Given the description of an element on the screen output the (x, y) to click on. 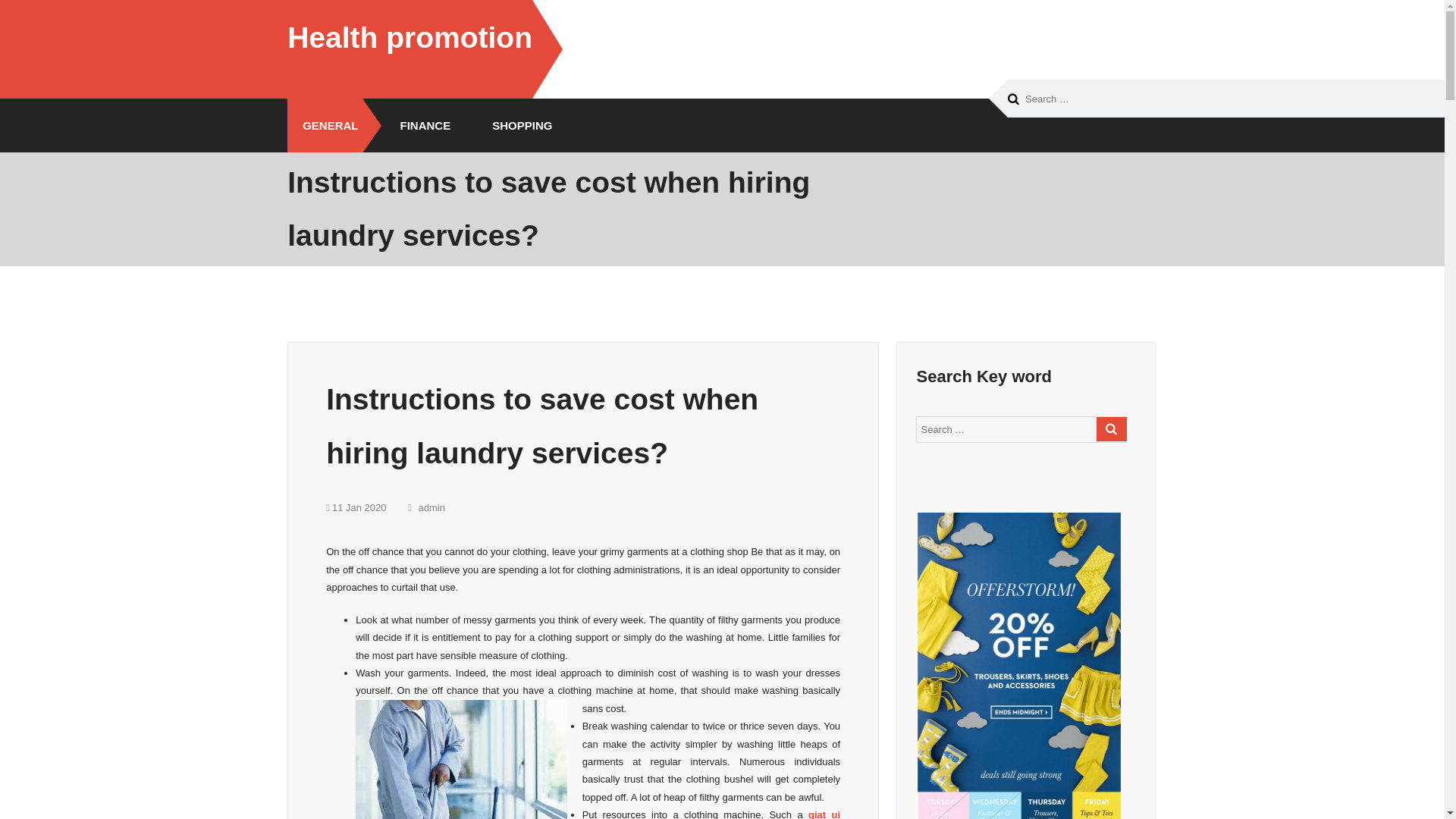
Search (1013, 99)
SHOPPING (516, 125)
11 Jan 2020 (355, 507)
Search (1013, 99)
Search (1111, 428)
Health promotion (409, 37)
GENERAL (323, 125)
FINANCE (419, 125)
Search (1111, 428)
giat ui (824, 814)
admin (426, 507)
Search (1111, 428)
Search (1013, 99)
